Given the description of an element on the screen output the (x, y) to click on. 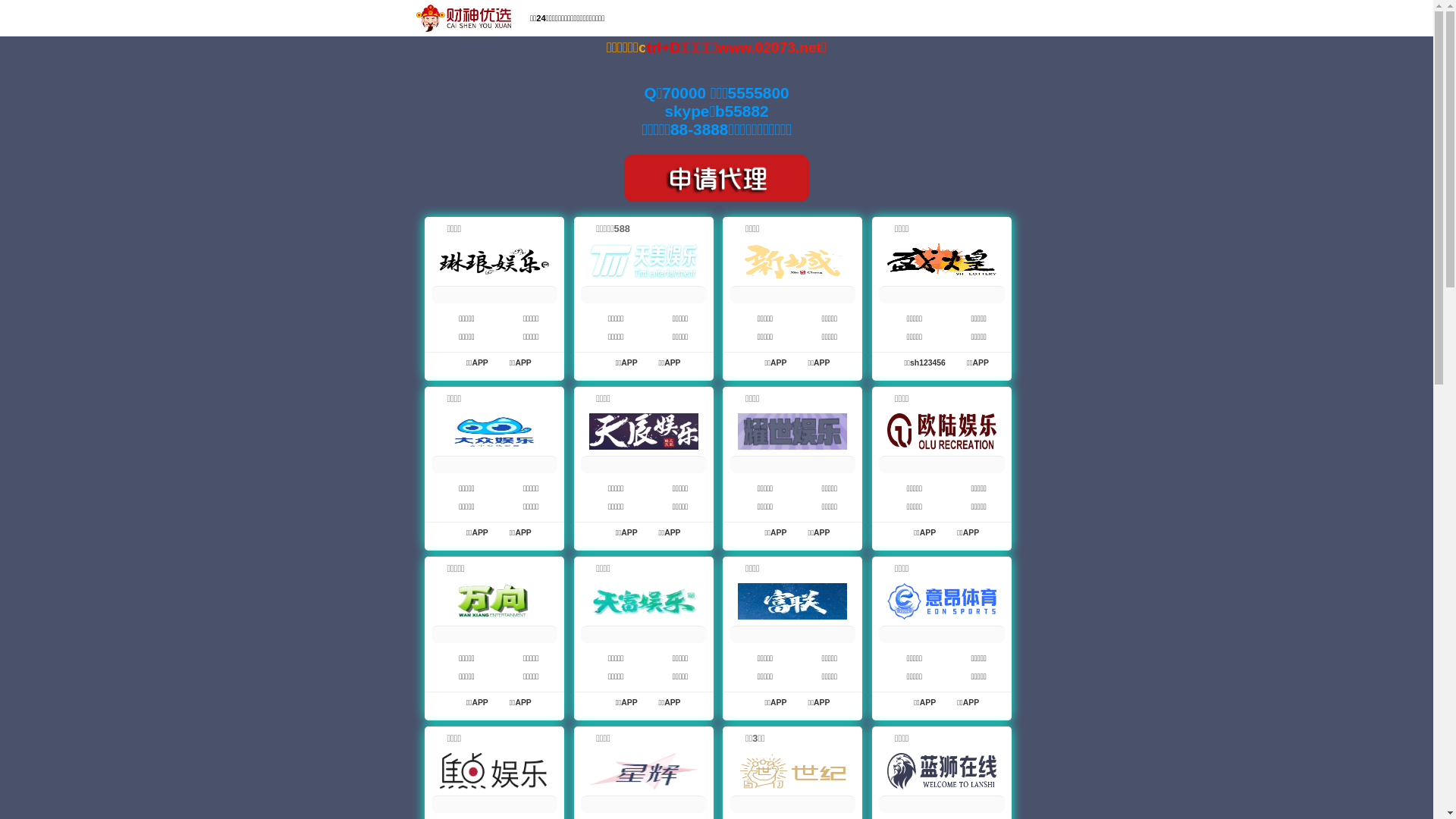
E-mail Element type: text (1162, 19)
QQ Element type: text (1117, 19)
